Given the description of an element on the screen output the (x, y) to click on. 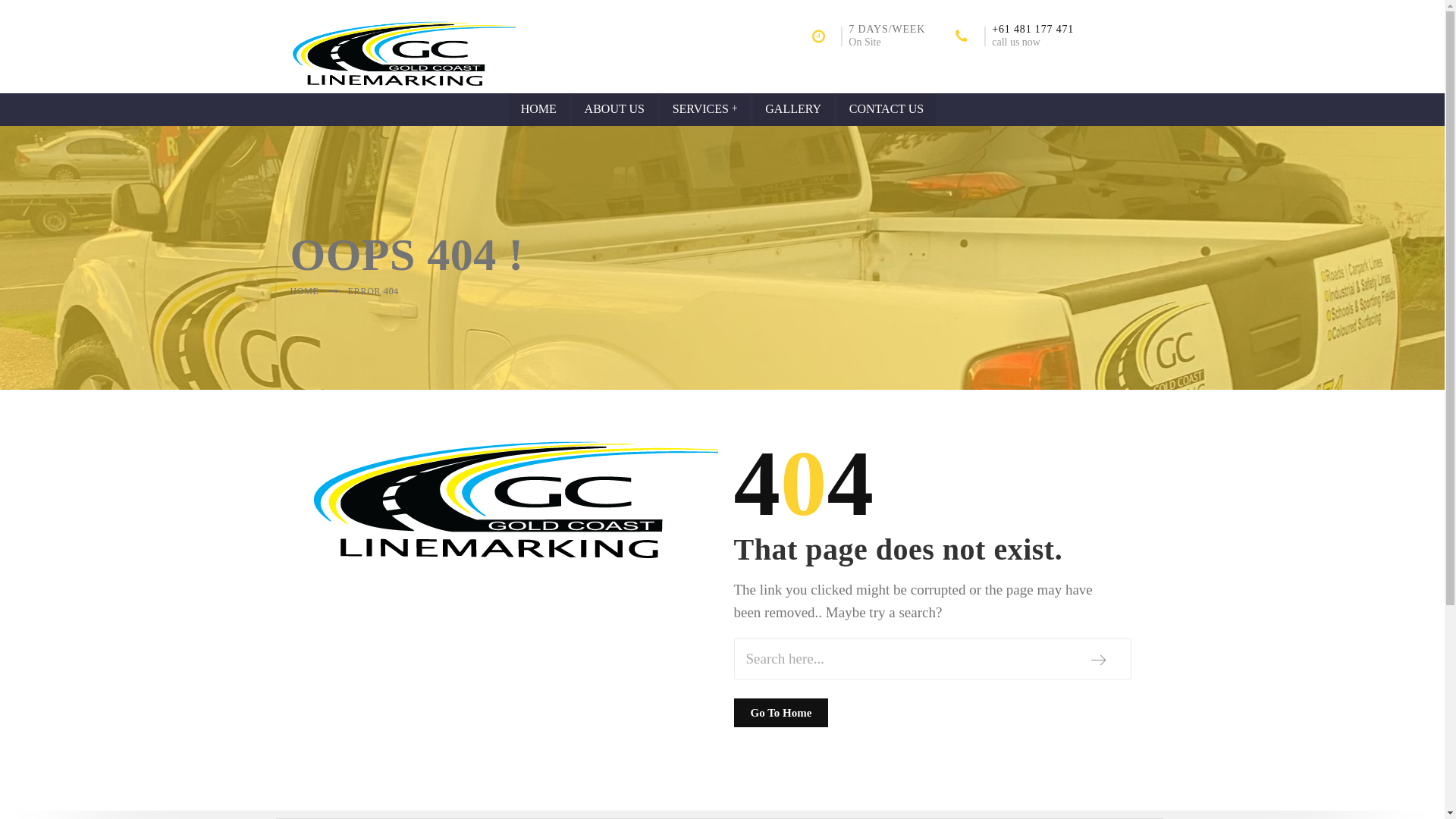
CONTACT US Element type: text (886, 109)
ABOUT US Element type: text (614, 109)
SERVICES Element type: text (704, 109)
Go To Home Element type: text (781, 711)
+61 481 177 471 Element type: text (1032, 28)
HOME Element type: text (303, 290)
HOME Element type: text (538, 109)
GALLERY Element type: text (793, 109)
